Given the description of an element on the screen output the (x, y) to click on. 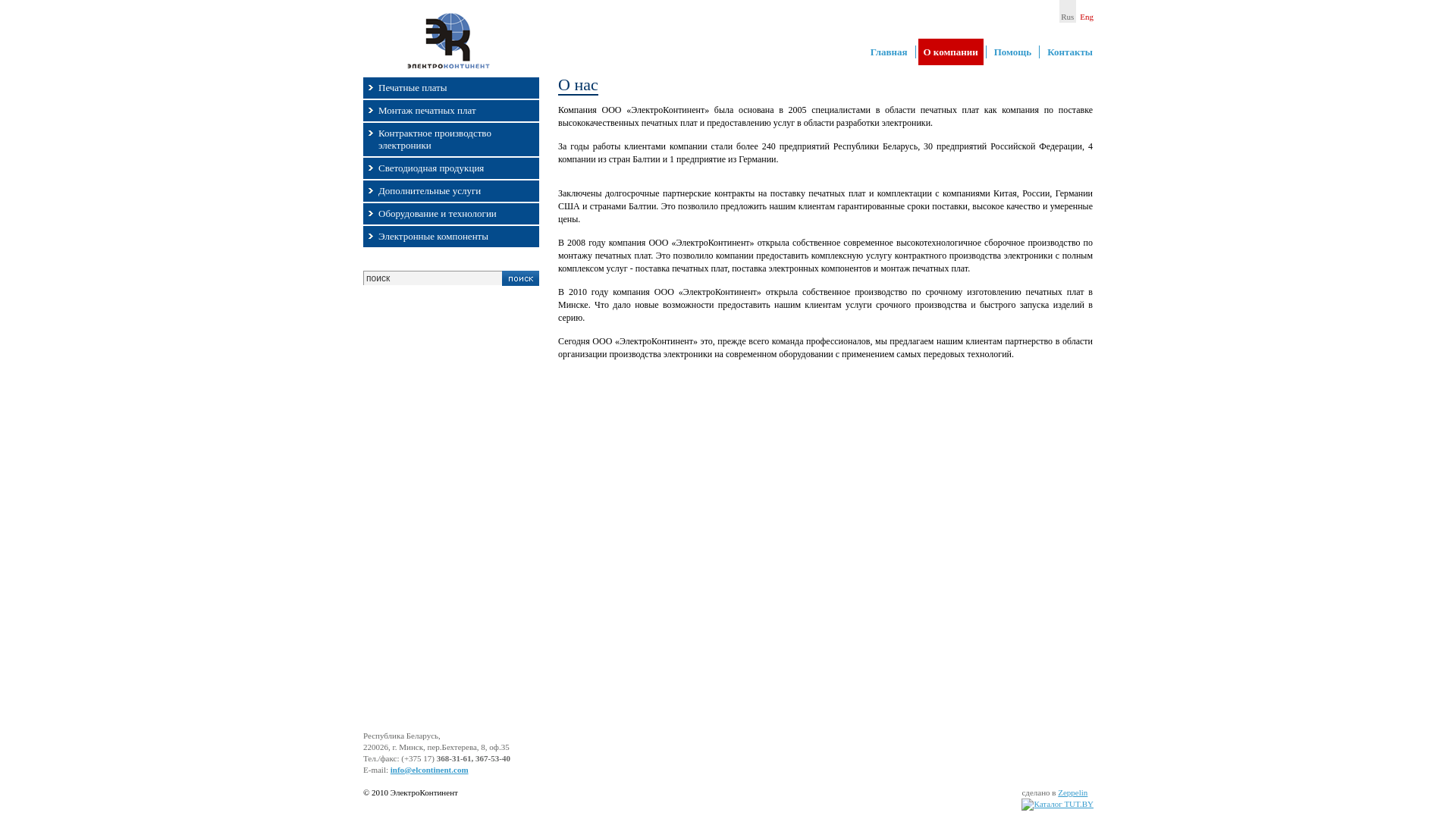
Rus Element type: text (1067, 11)
Eng Element type: text (1086, 11)
Zeppelin Element type: text (1072, 792)
info@elcontinent.com Element type: text (429, 769)
